Given the description of an element on the screen output the (x, y) to click on. 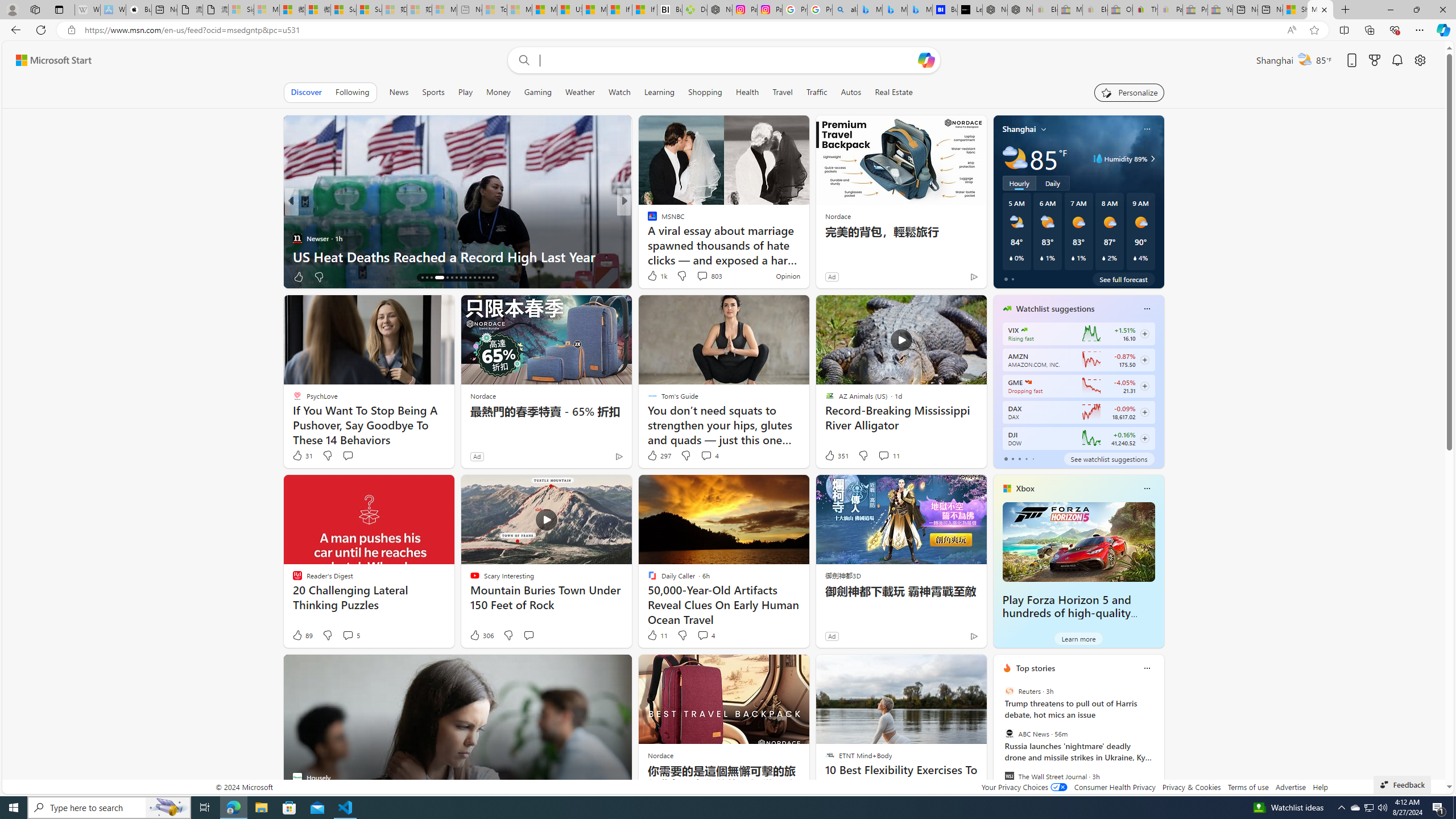
The Wall Street Journal (1008, 775)
View comments 4 Comment (705, 634)
Reuters (1008, 691)
View comments 11 Comment (883, 455)
AutomationID: tab-20 (446, 277)
WOWK Charleston (647, 238)
33 Math Puzzles (with Answers) to Test Your Smarts (807, 256)
